Given the description of an element on the screen output the (x, y) to click on. 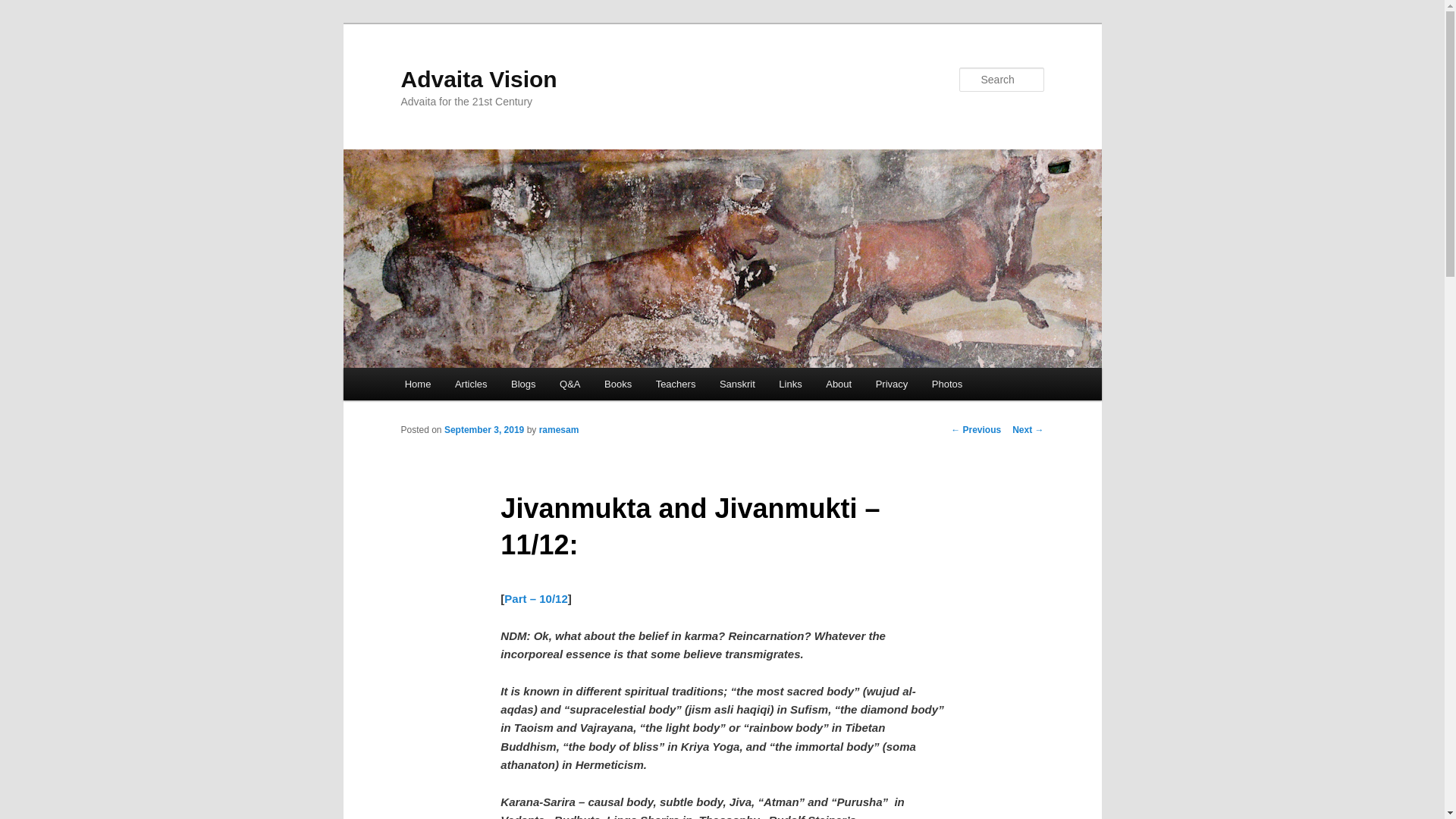
Blogs from regular contributors (523, 383)
Sanskrit (737, 383)
20:31 (484, 429)
September 3, 2019 (484, 429)
Advaita Vision (478, 78)
About (838, 383)
Articles (470, 383)
View all posts by ramesam (558, 429)
Search (24, 8)
Home (417, 383)
Privacy (891, 383)
Blogs (523, 383)
